Given the description of an element on the screen output the (x, y) to click on. 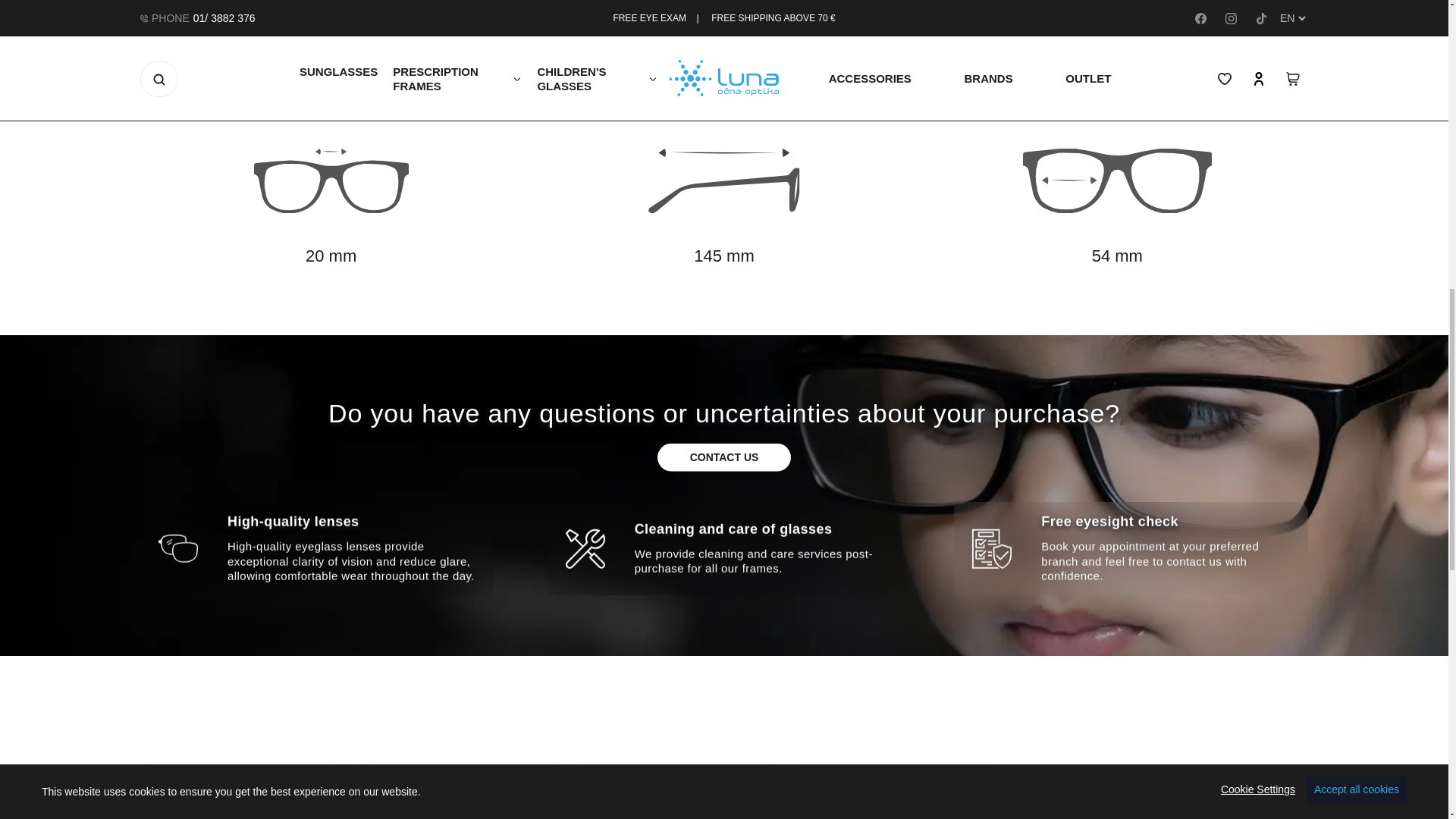
CONTACT US (725, 457)
